Given the description of an element on the screen output the (x, y) to click on. 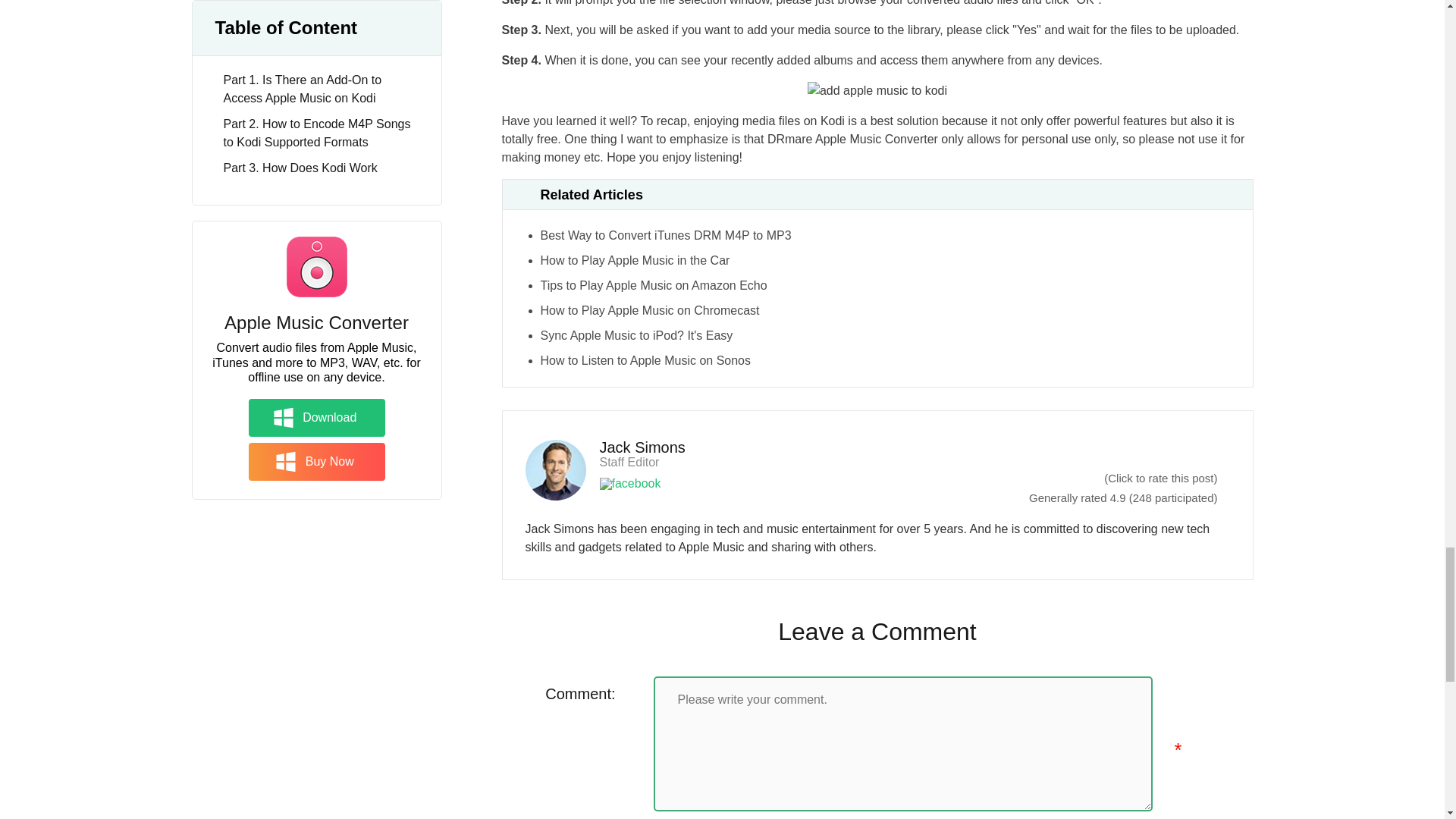
How to Listen to Apple Music on Sonos (645, 359)
Jack Simons (641, 446)
How to Play Apple Music in the Car (634, 259)
How to Play Apple Music on Chromecast (649, 309)
Best Way to Convert iTunes DRM M4P to MP3 (665, 235)
Sync Apple Music to iPod? It's Easy (636, 335)
Tips to Play Apple Music on Amazon Echo (653, 285)
